Given the description of an element on the screen output the (x, y) to click on. 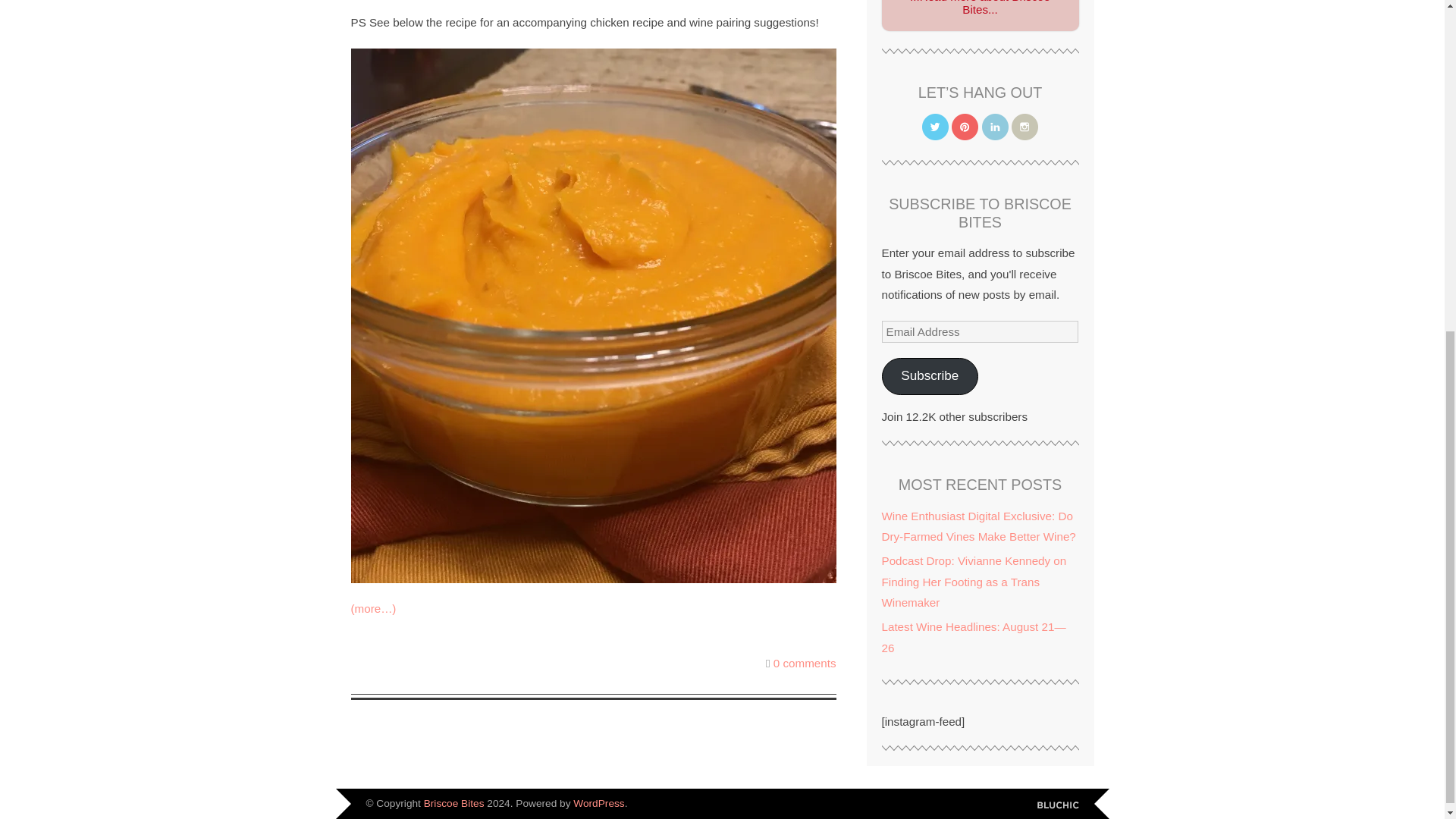
Pinterest (965, 126)
0 comments (804, 662)
Instagram (1024, 126)
...Read more about Briscoe Bites... (979, 7)
Twitter (935, 126)
Theme designed by BluChic (1057, 805)
LinkedIn (995, 126)
